Given the description of an element on the screen output the (x, y) to click on. 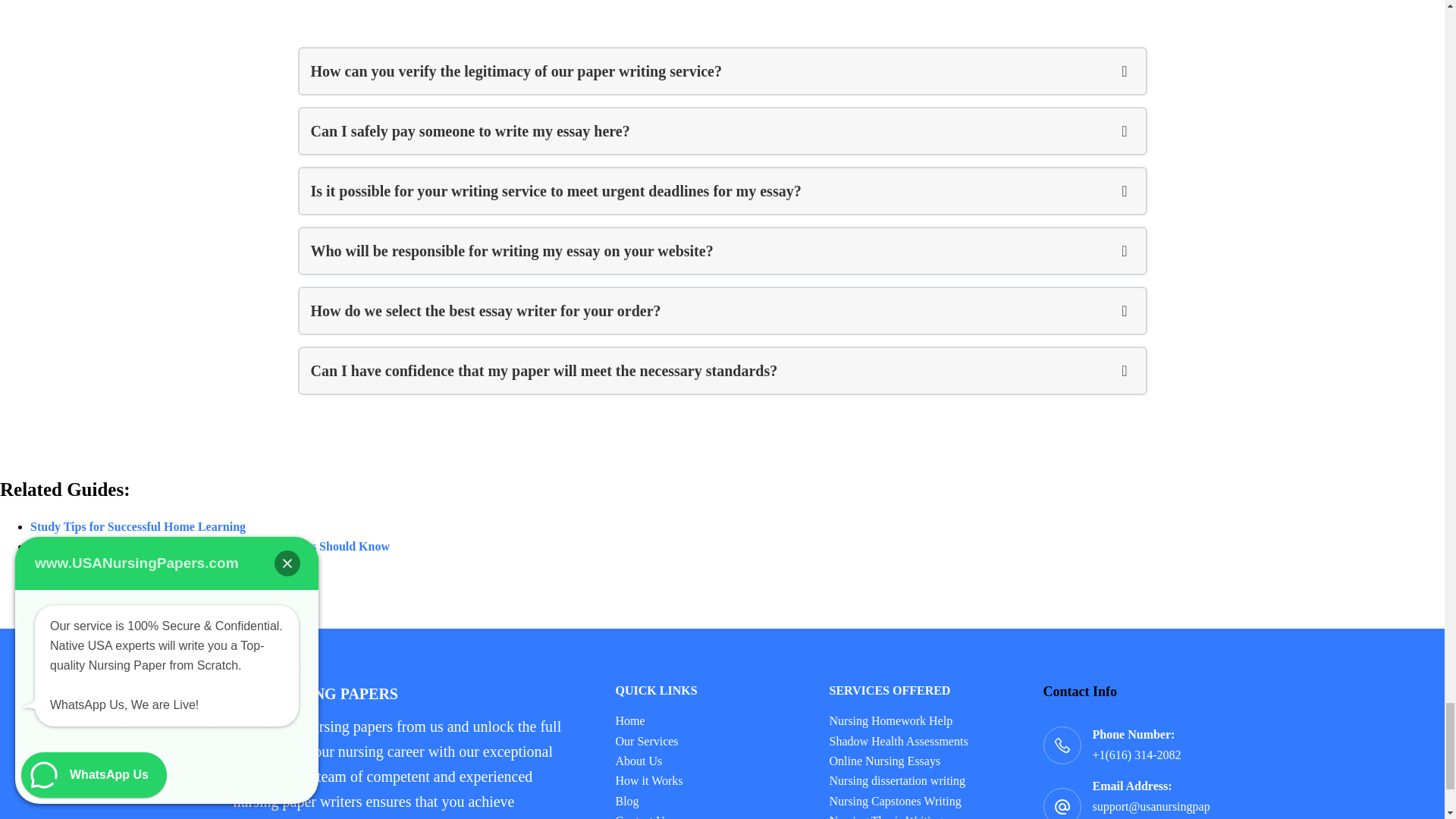
Study Tips for Successful Home Learning (138, 526)
Home Health Nurse Career Overview (127, 605)
Work From Home Healthcare Positions (132, 585)
Nursing Jobs You Can do from home (125, 565)
